Given the description of an element on the screen output the (x, y) to click on. 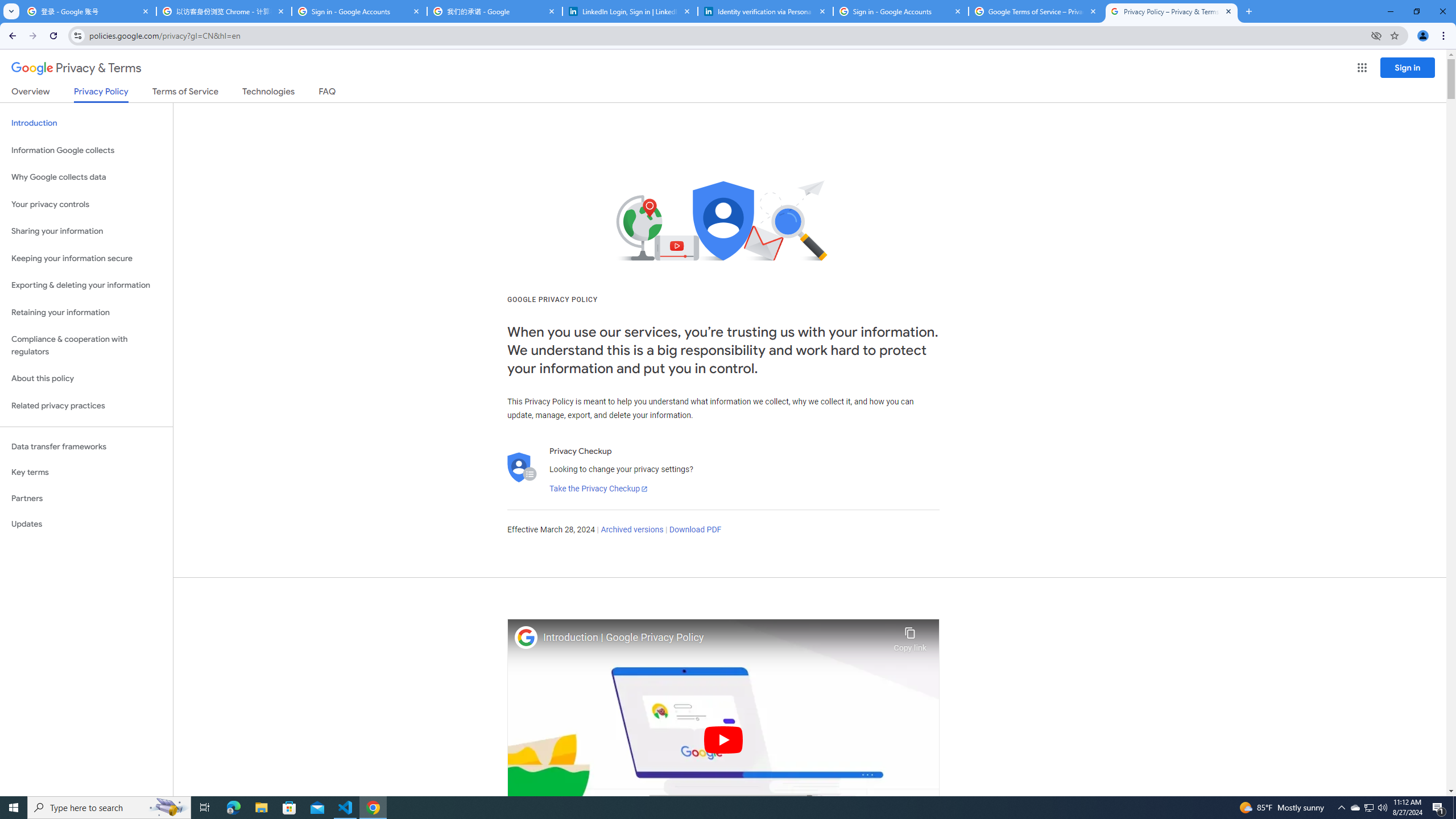
Data transfer frameworks (86, 446)
Sign in - Google Accounts (359, 11)
Download PDF (695, 529)
Photo image of Google (526, 636)
